Given the description of an element on the screen output the (x, y) to click on. 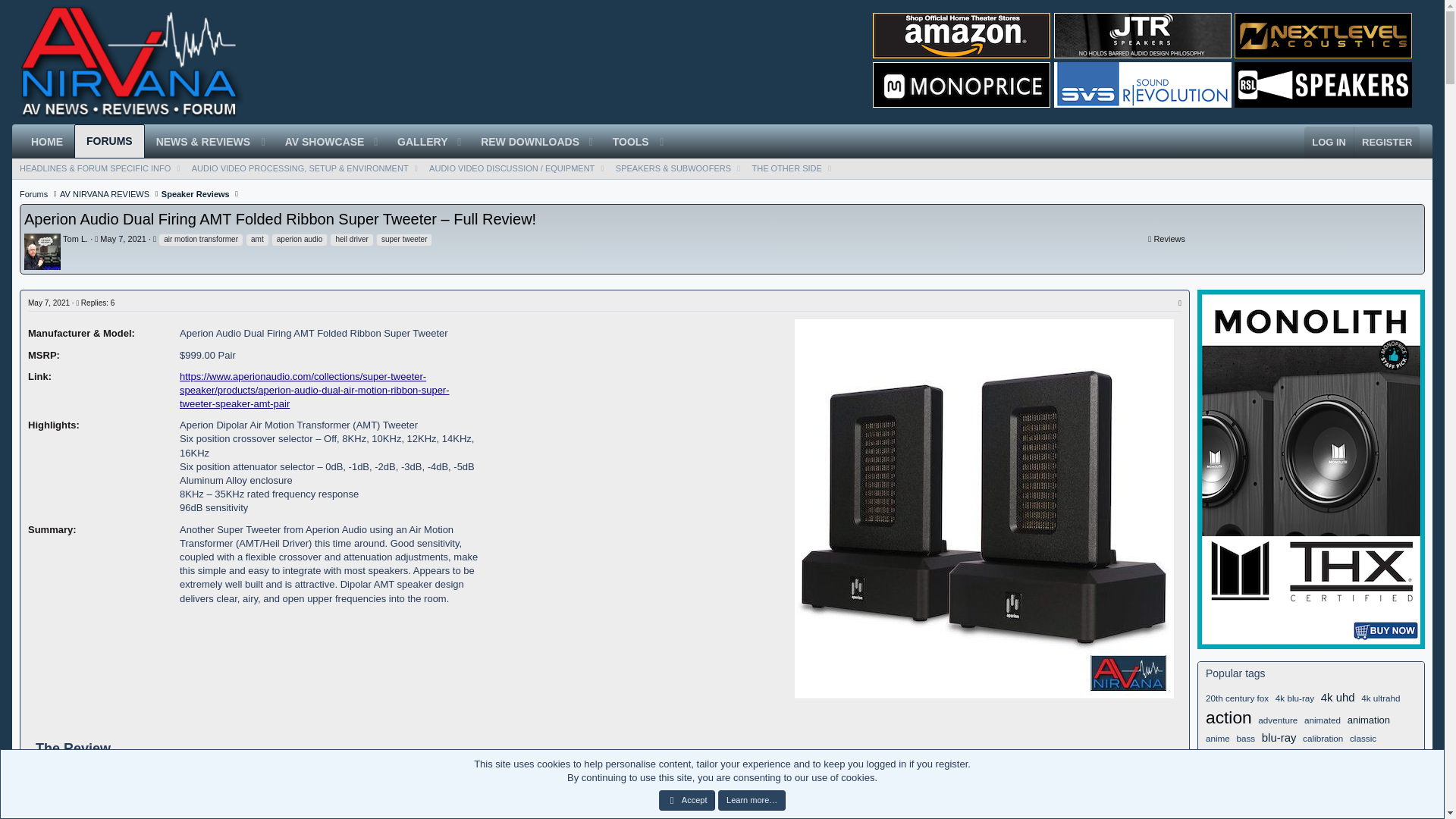
May 7, 2021 at 3:28 PM (48, 302)
May 7, 2021 at 3:28 PM (123, 238)
HOME (47, 142)
FORUMS (109, 141)
